Given the description of an element on the screen output the (x, y) to click on. 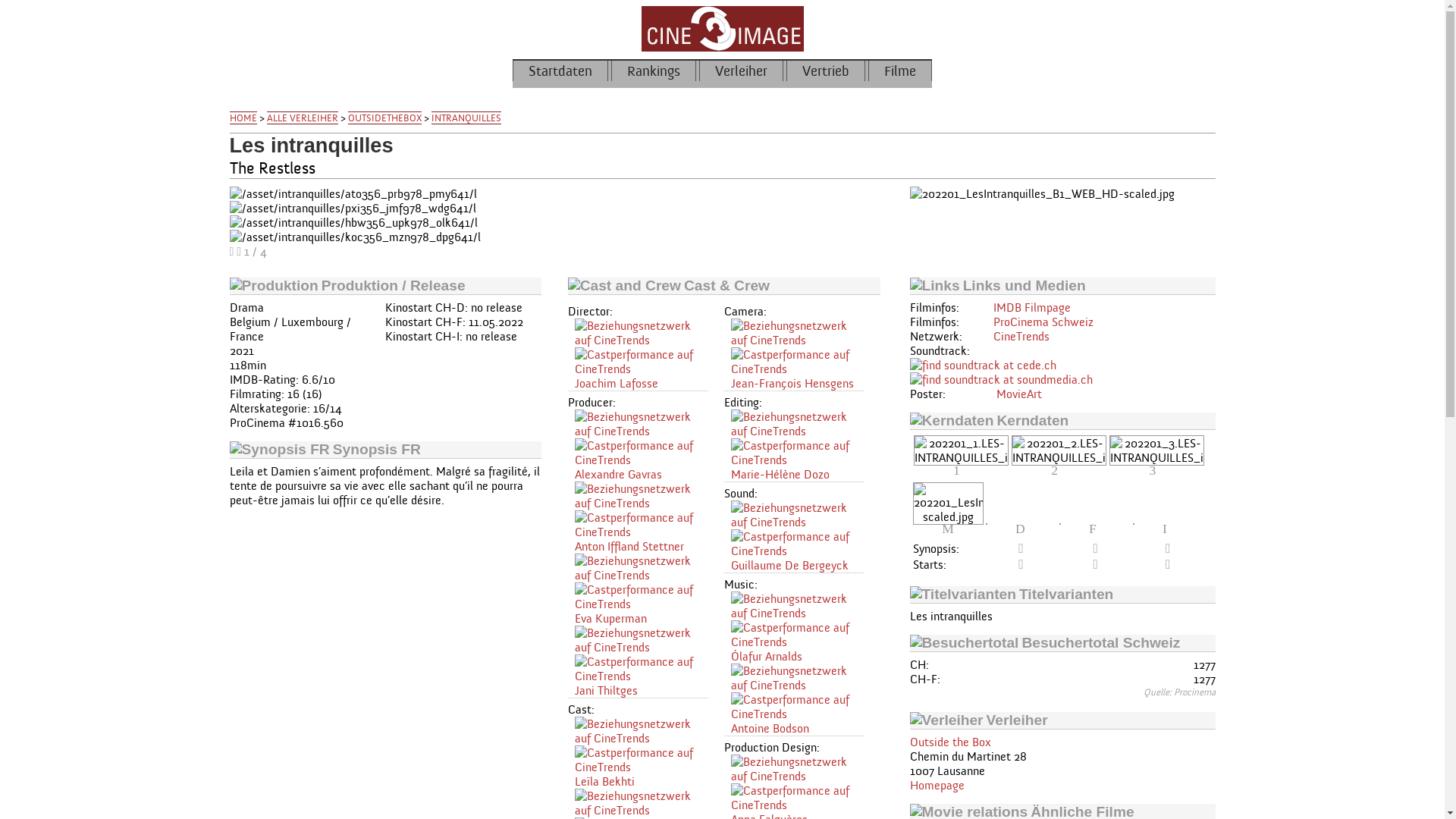
IMDB Filmpage Element type: text (1031, 307)
Beziehungsnetzwerk auf CineTrends Element type: hover (641, 332)
MovieArt Element type: text (1018, 393)
ProCinema Schweiz Element type: text (1043, 321)
Castperformance auf CineTrends Element type: hover (641, 596)
Homepage Element type: text (937, 785)
Beziehungsnetzwerk auf CineTrends Element type: hover (641, 730)
Filme Element type: text (900, 70)
Castperformance auf CineTrends Element type: hover (797, 797)
Anton Iffland Stettner Element type: text (629, 546)
Beziehungsnetzwerk auf CineTrends Element type: hover (641, 567)
Castperformance auf CineTrends Element type: hover (797, 452)
OUTSIDETHEBOX Element type: text (383, 117)
INTRANQUILLES Element type: text (465, 117)
Beziehungsnetzwerk auf CineTrends Element type: hover (797, 332)
Antoine Bodson Element type: text (770, 728)
HOME Element type: text (242, 117)
Beziehungsnetzwerk auf CineTrends Element type: hover (797, 677)
Castperformance auf CineTrends Element type: hover (641, 361)
Jani Thiltges Element type: text (605, 690)
Beziehungsnetzwerk auf CineTrends Element type: hover (641, 639)
Castperformance auf CineTrends Element type: hover (797, 361)
Beziehungsnetzwerk auf CineTrends Element type: hover (797, 423)
Rankings Element type: text (653, 70)
Beziehungsnetzwerk auf CineTrends Element type: hover (797, 768)
CineTrends Element type: text (1021, 336)
Beziehungsnetzwerk auf CineTrends Element type: hover (641, 423)
Startdaten Element type: text (560, 70)
Beziehungsnetzwerk auf CineTrends Element type: hover (797, 605)
Guillaume De Bergeyck Element type: text (789, 565)
ALLE VERLEIHER Element type: text (302, 117)
Verleiher Element type: text (741, 70)
Outside the Box Element type: text (950, 741)
Vertrieb Element type: text (825, 70)
Castperformance auf CineTrends Element type: hover (797, 543)
Beziehungsnetzwerk auf CineTrends Element type: hover (797, 514)
Castperformance auf CineTrends Element type: hover (641, 668)
Castperformance auf CineTrends Element type: hover (641, 759)
Eva Kuperman Element type: text (610, 618)
Castperformance auf CineTrends Element type: hover (797, 634)
Castperformance auf CineTrends Element type: hover (641, 524)
Castperformance auf CineTrends Element type: hover (797, 706)
Alexandre Gavras Element type: text (618, 474)
Castperformance auf CineTrends Element type: hover (641, 452)
Beziehungsnetzwerk auf CineTrends Element type: hover (641, 802)
Beziehungsnetzwerk auf CineTrends Element type: hover (641, 495)
Joachim Lafosse Element type: text (616, 383)
